Given the description of an element on the screen output the (x, y) to click on. 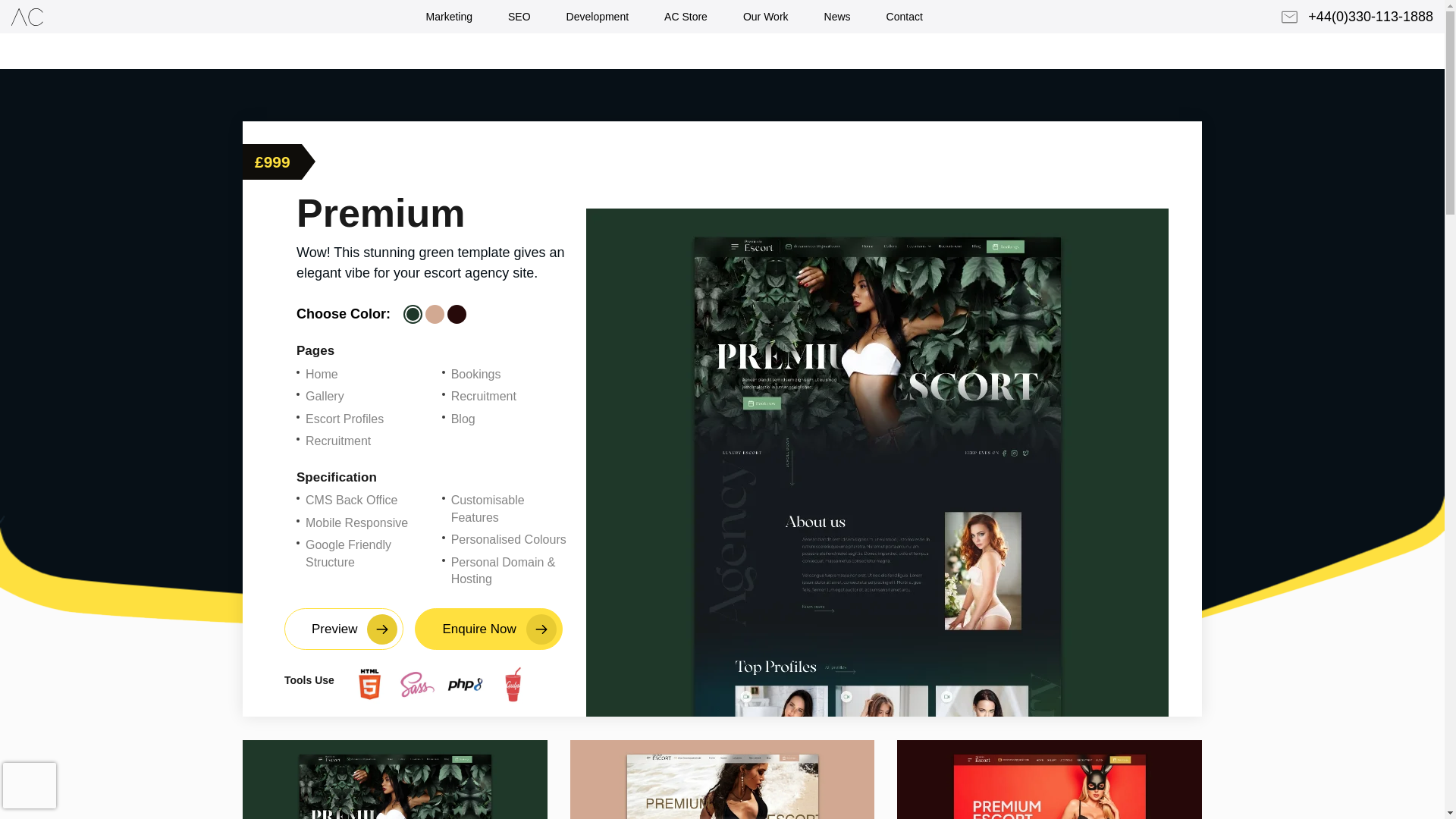
Development (597, 16)
News (836, 16)
Marketing (448, 16)
reCAPTCHA (99, 785)
AC Store (685, 16)
SEO (519, 16)
Our Work (765, 16)
